Given the description of an element on the screen output the (x, y) to click on. 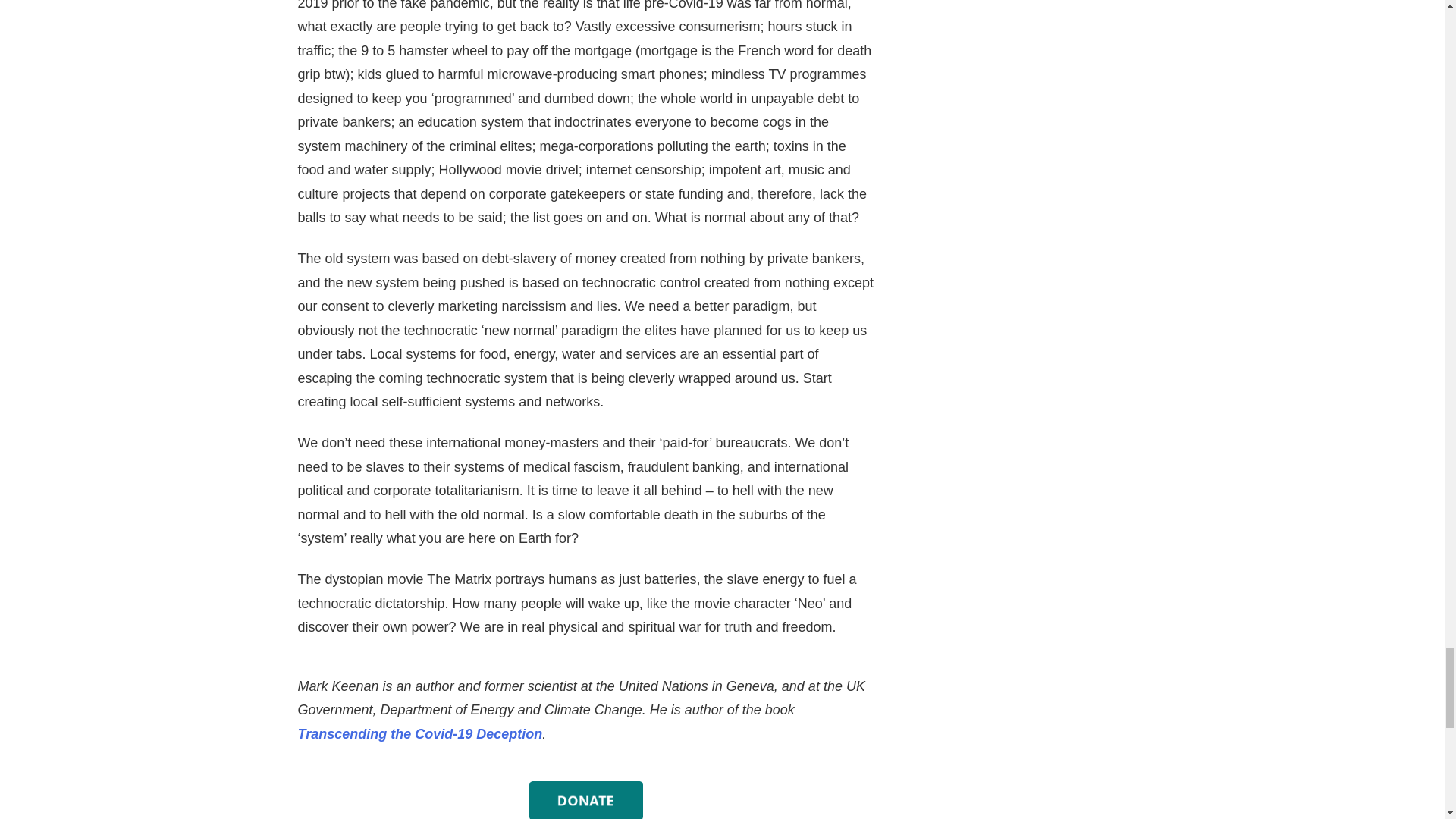
Transcending the Covid-19 Deception (419, 734)
